Given the description of an element on the screen output the (x, y) to click on. 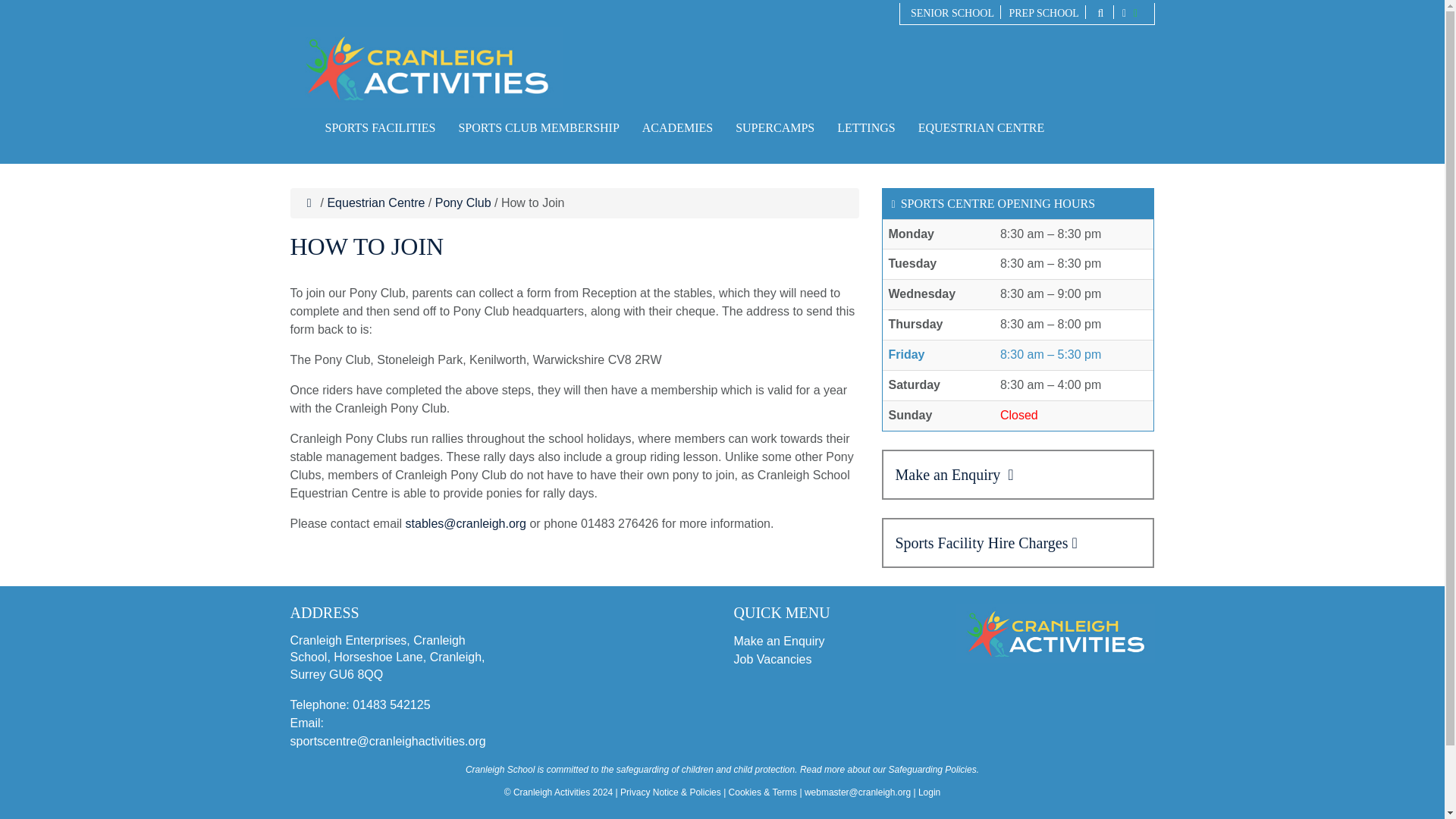
Make an Enquiry (779, 640)
Pony Club (463, 202)
Go to Pony Club. (463, 202)
01483 542125 (390, 704)
Read more about our Safeguarding Policies. (888, 769)
Job Vacancies (772, 658)
EQUESTRIAN CENTRE (982, 128)
LETTINGS (865, 128)
Go to Equestrian Centre. (375, 202)
PREP SCHOOL (1043, 12)
